Given the description of an element on the screen output the (x, y) to click on. 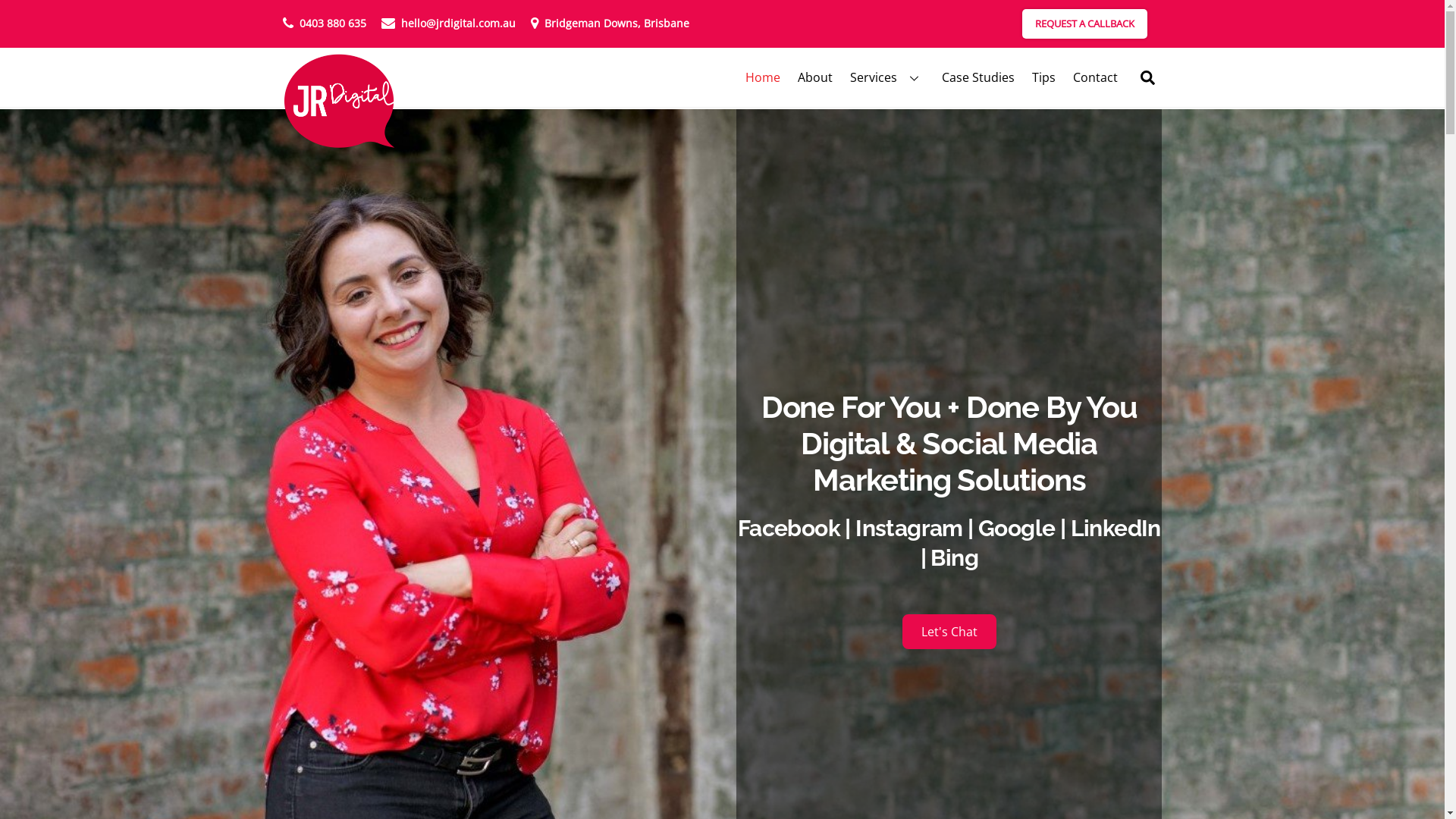
About Element type: text (814, 76)
hello@jrdigital.com.au Element type: text (447, 23)
Services Element type: text (886, 76)
Bridgeman Downs, Brisbane Element type: text (609, 23)
Let's Chat Element type: text (949, 631)
Tips Element type: text (1043, 76)
Search Element type: text (1147, 76)
Case Studies Element type: text (977, 76)
JR Digital Element type: hover (338, 101)
JR Digital Element type: hover (338, 141)
Home Element type: text (762, 76)
Contact Element type: text (1094, 76)
0403 880 635 Element type: text (323, 23)
REQUEST A CALLBACK Element type: text (1084, 23)
